Given the description of an element on the screen output the (x, y) to click on. 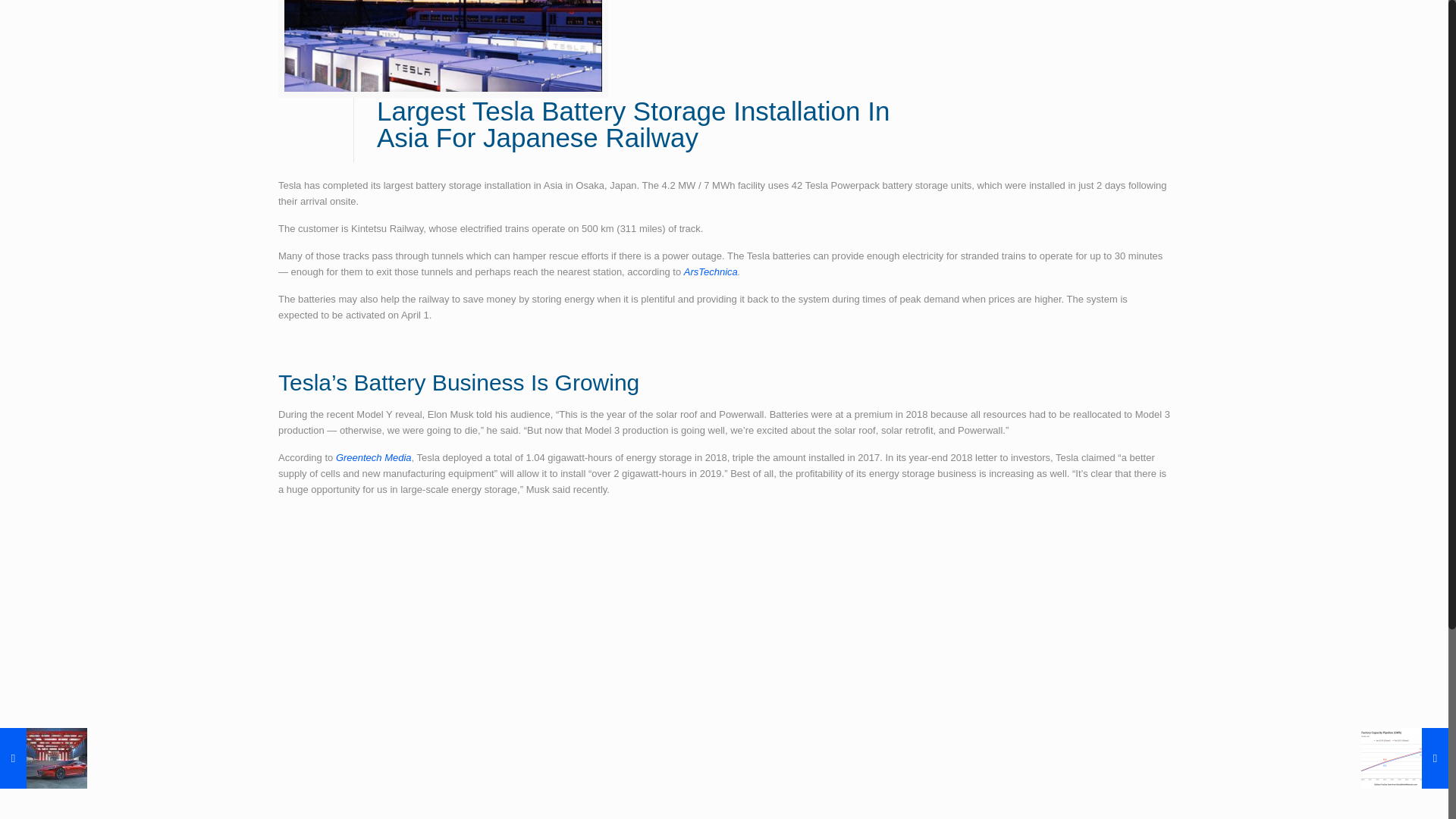
ArsTechnica (711, 271)
Greentech Media (374, 457)
